Given the description of an element on the screen output the (x, y) to click on. 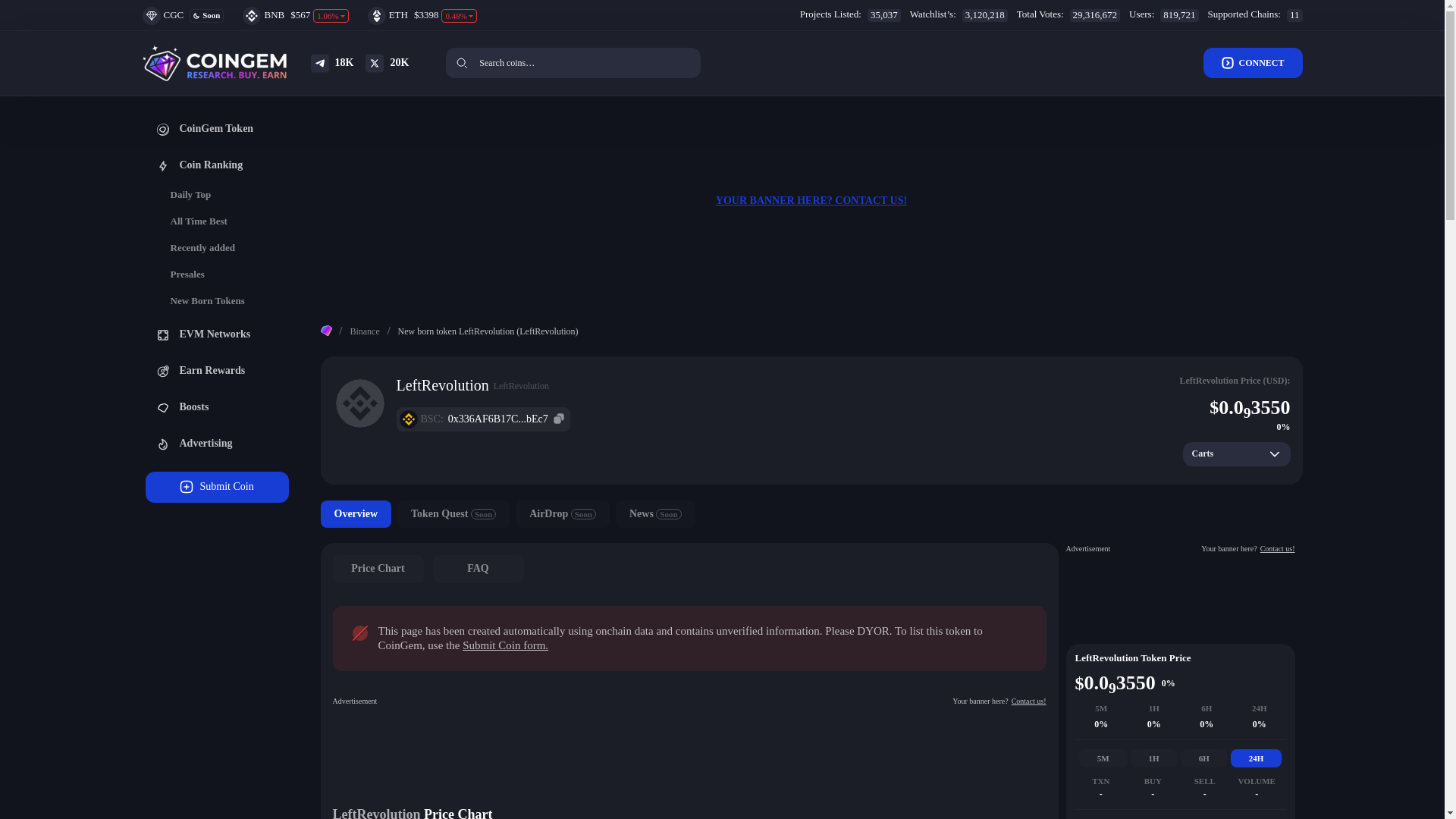
1H (1154, 758)
All Time Best (224, 221)
Daily Top (224, 195)
24H (1256, 758)
AirDrop Soon (562, 513)
Recently added (224, 248)
Overview (355, 513)
CONNECT (1252, 62)
New Born Tokens (224, 301)
Submit Coin form. (505, 645)
Submit Coin (216, 486)
Token Quest Soon (453, 513)
News Soon (655, 513)
Presales (224, 274)
Binance (373, 330)
